Given the description of an element on the screen output the (x, y) to click on. 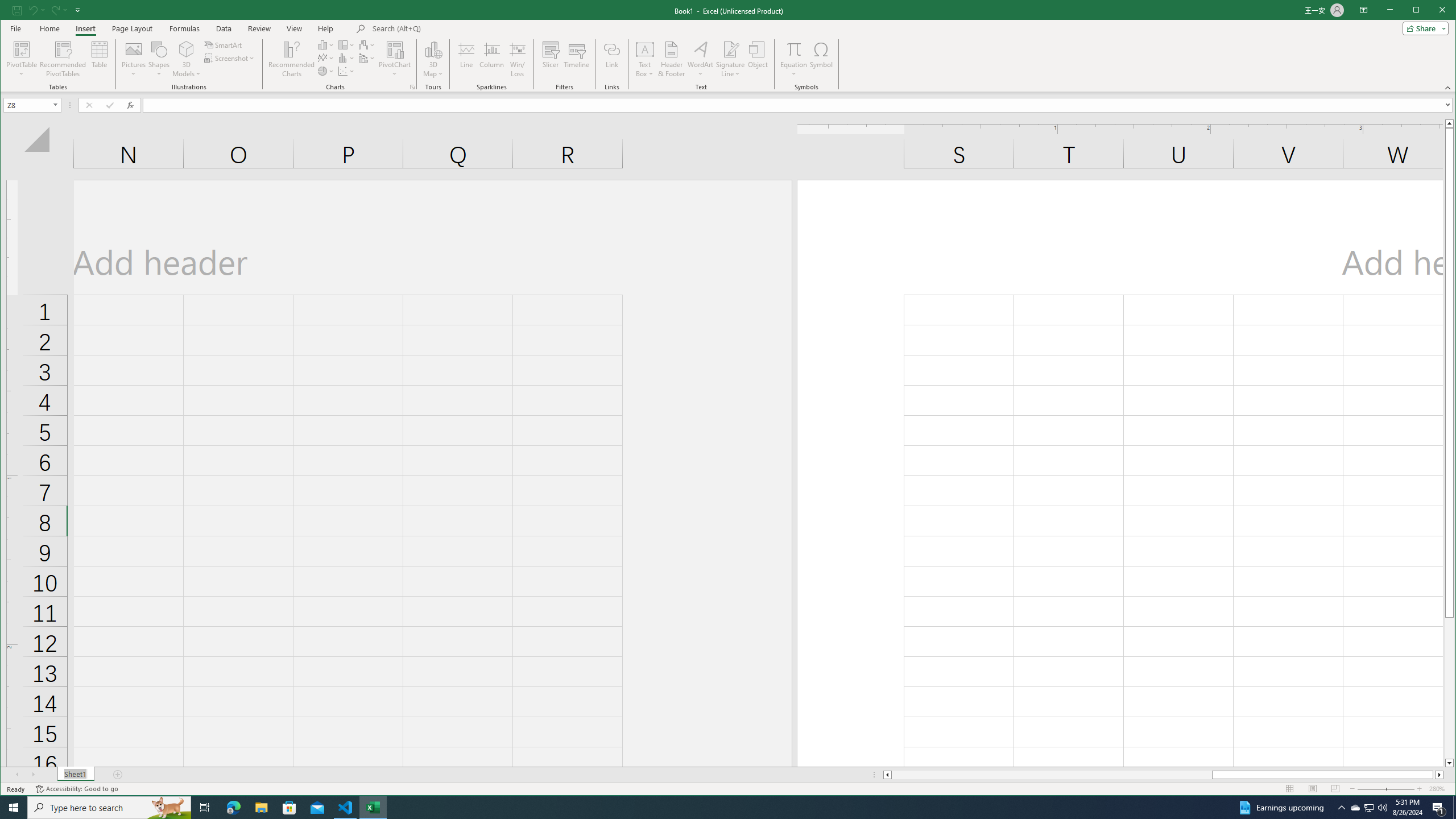
Notification Chevron (1341, 807)
Insert Hierarchy Chart (346, 44)
Shapes (159, 59)
Signature Line (729, 48)
